Given the description of an element on the screen output the (x, y) to click on. 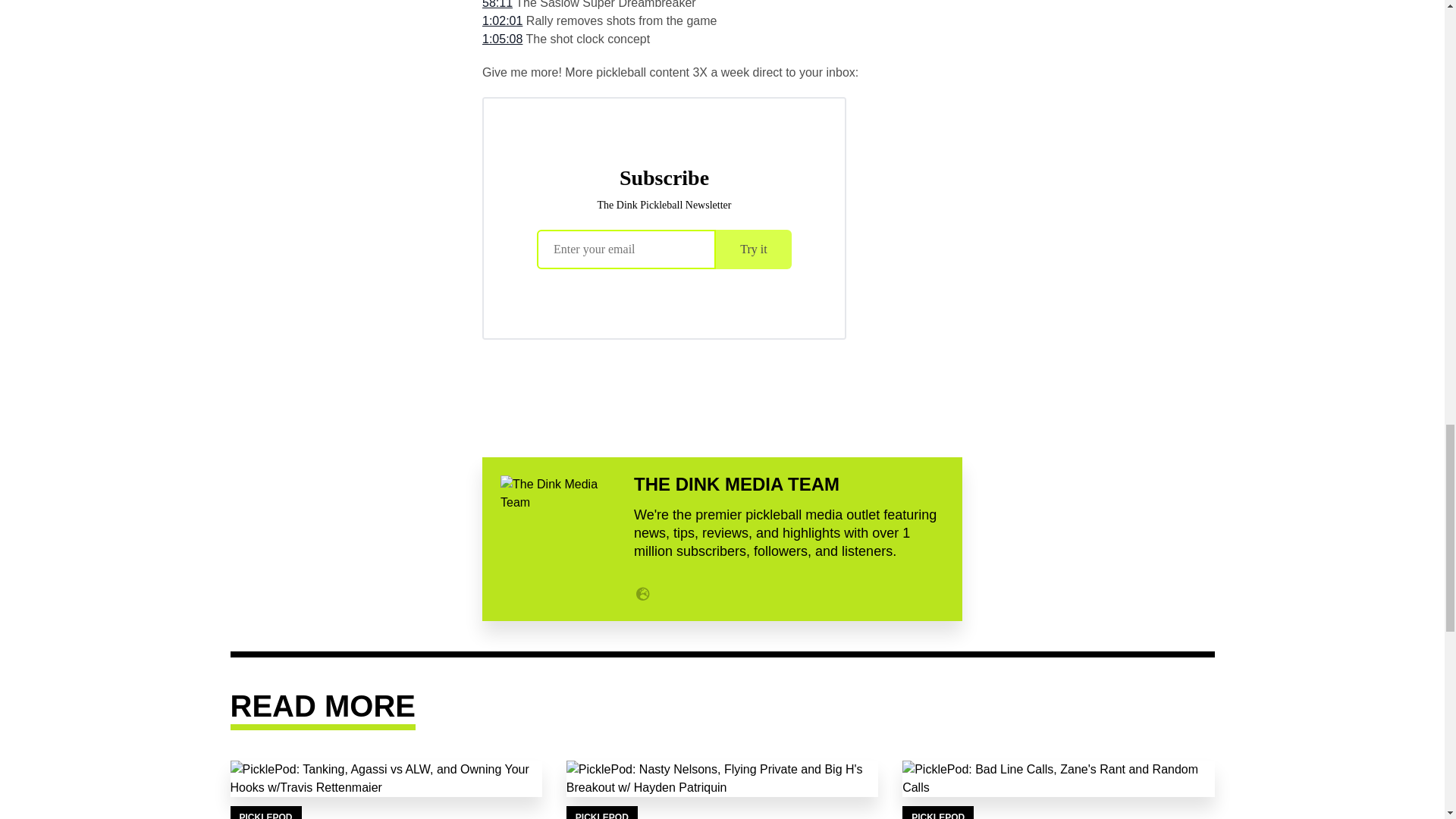
58:11 (496, 4)
1:05:08 (501, 38)
1:02:01 (501, 20)
